Given the description of an element on the screen output the (x, y) to click on. 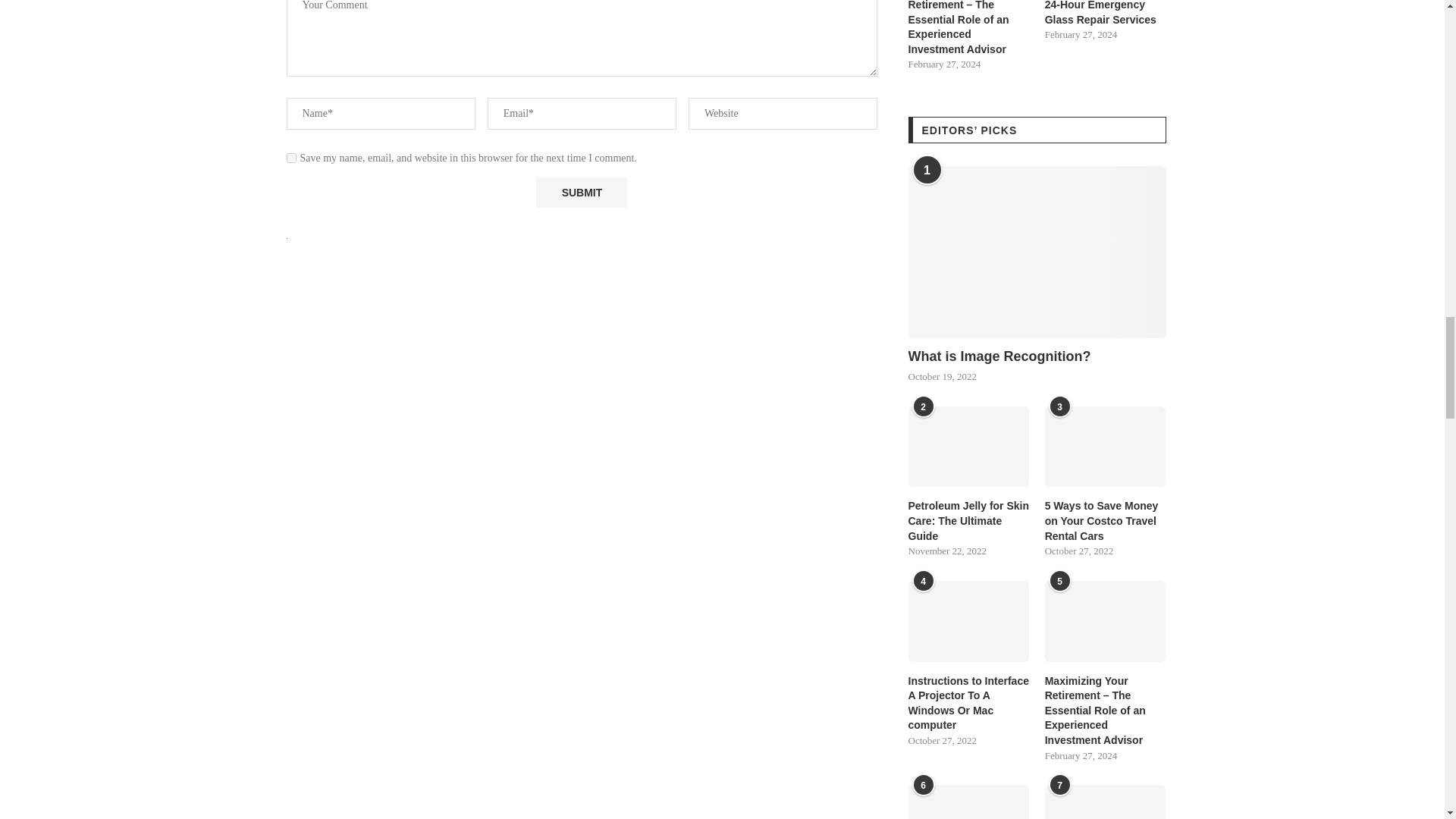
Submit (581, 192)
yes (291, 157)
